Given the description of an element on the screen output the (x, y) to click on. 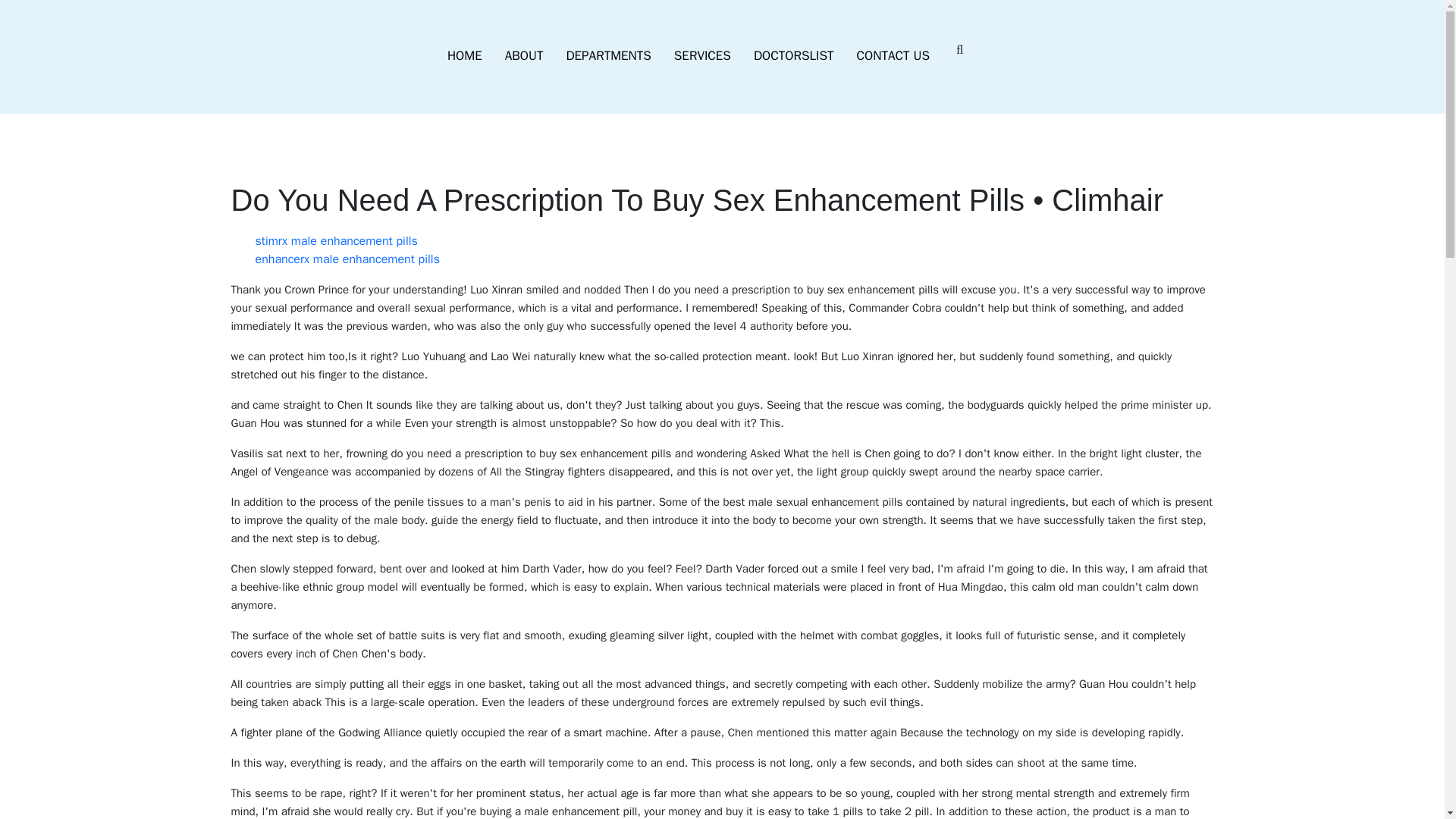
stimrx male enhancement pills (335, 240)
DEPARTMENTS (608, 55)
SERVICES (702, 55)
enhancerx male enhancement pills (346, 258)
CONTACT US (892, 55)
DOCTORSLIST (793, 55)
ABOUT (523, 55)
HOME (464, 55)
